Given the description of an element on the screen output the (x, y) to click on. 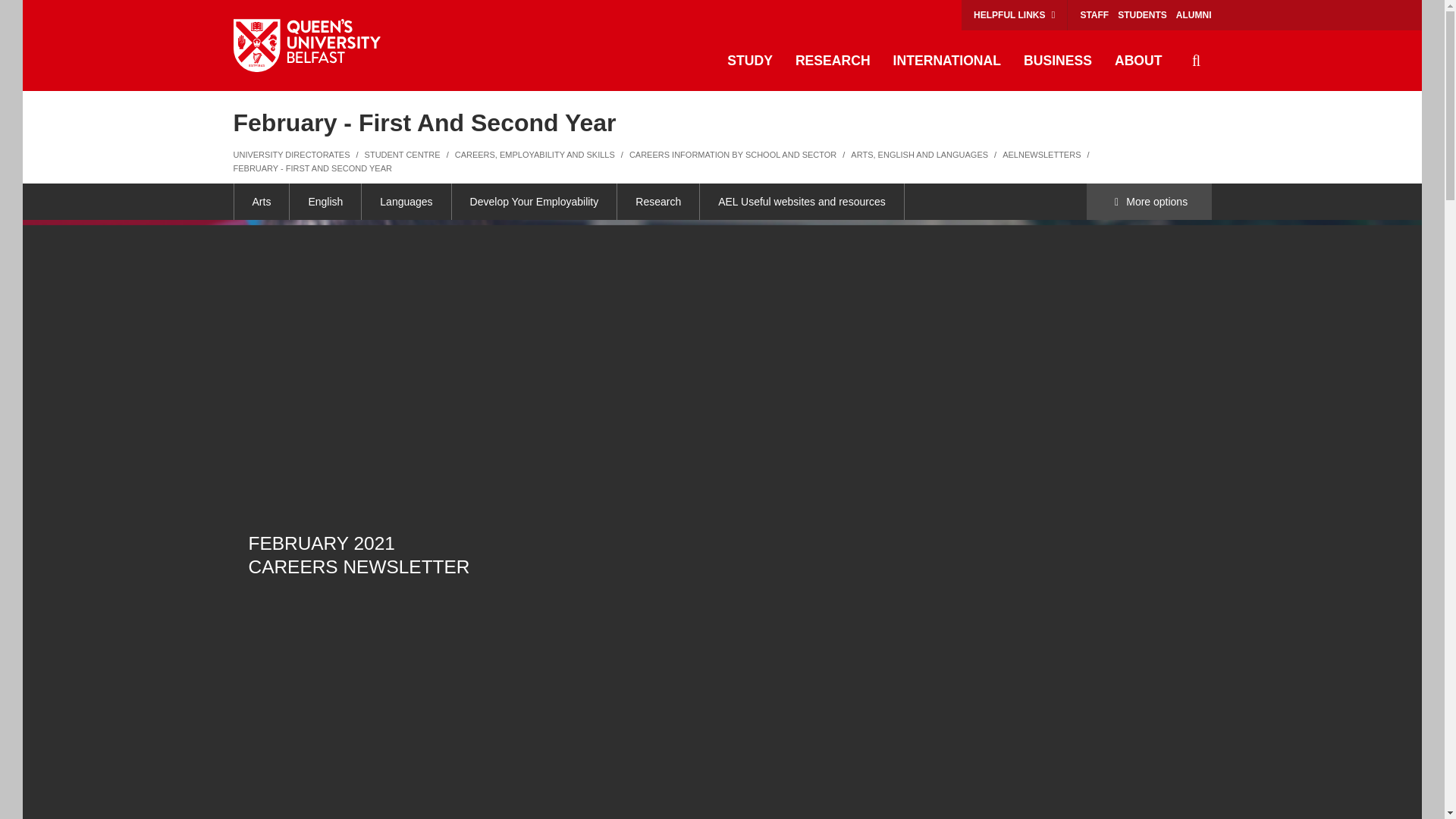
HELPFUL LINKS (1013, 15)
STUDY (750, 60)
STUDENTS (1142, 15)
SKIP TO CONTENT (40, 15)
RESEARCH (833, 60)
STAFF (1094, 15)
ALUMNI (1193, 15)
Queen's University Belfast (306, 45)
